Given the description of an element on the screen output the (x, y) to click on. 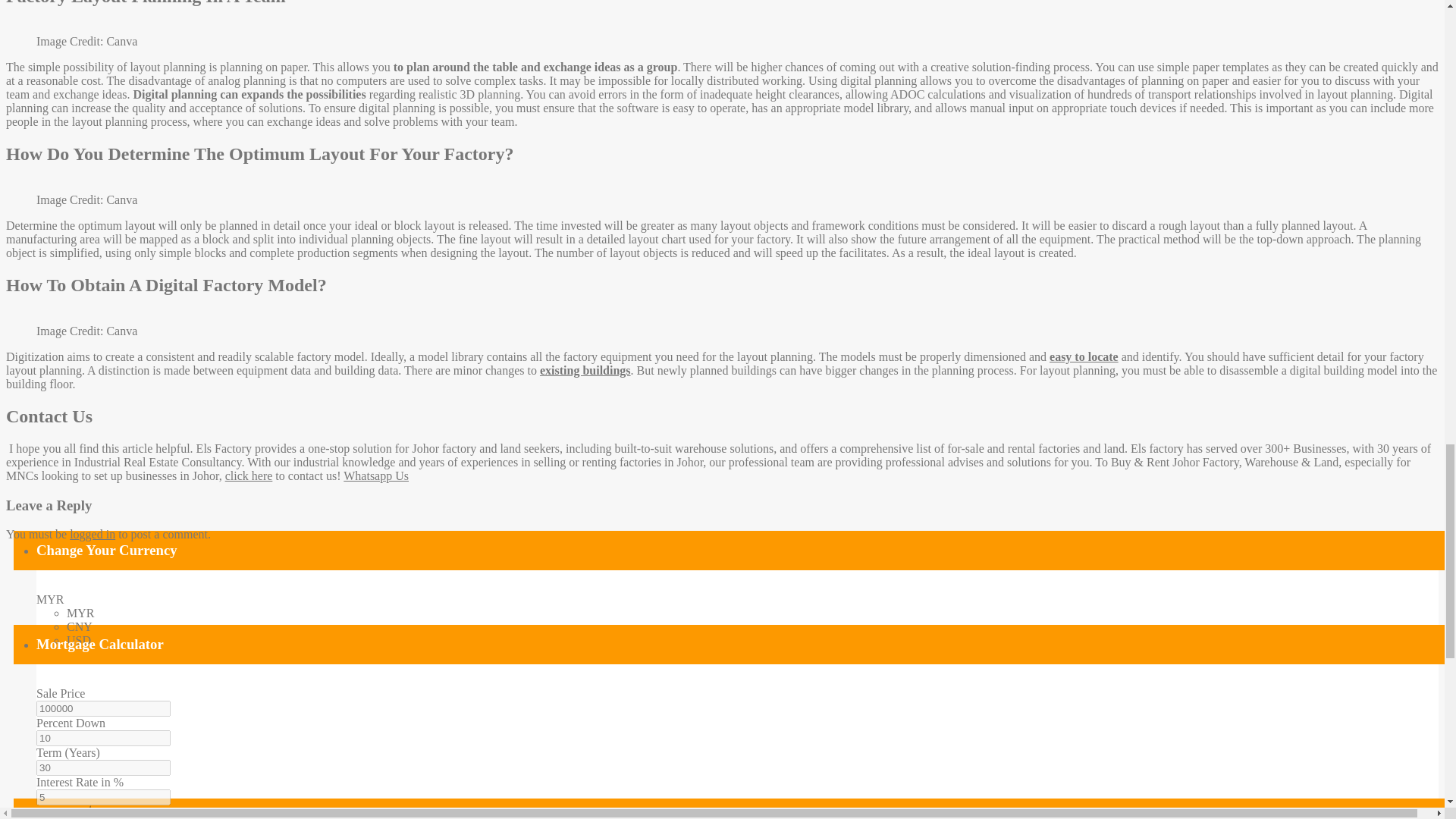
30 (103, 767)
5 (103, 797)
100000 (103, 708)
10 (103, 738)
